Given the description of an element on the screen output the (x, y) to click on. 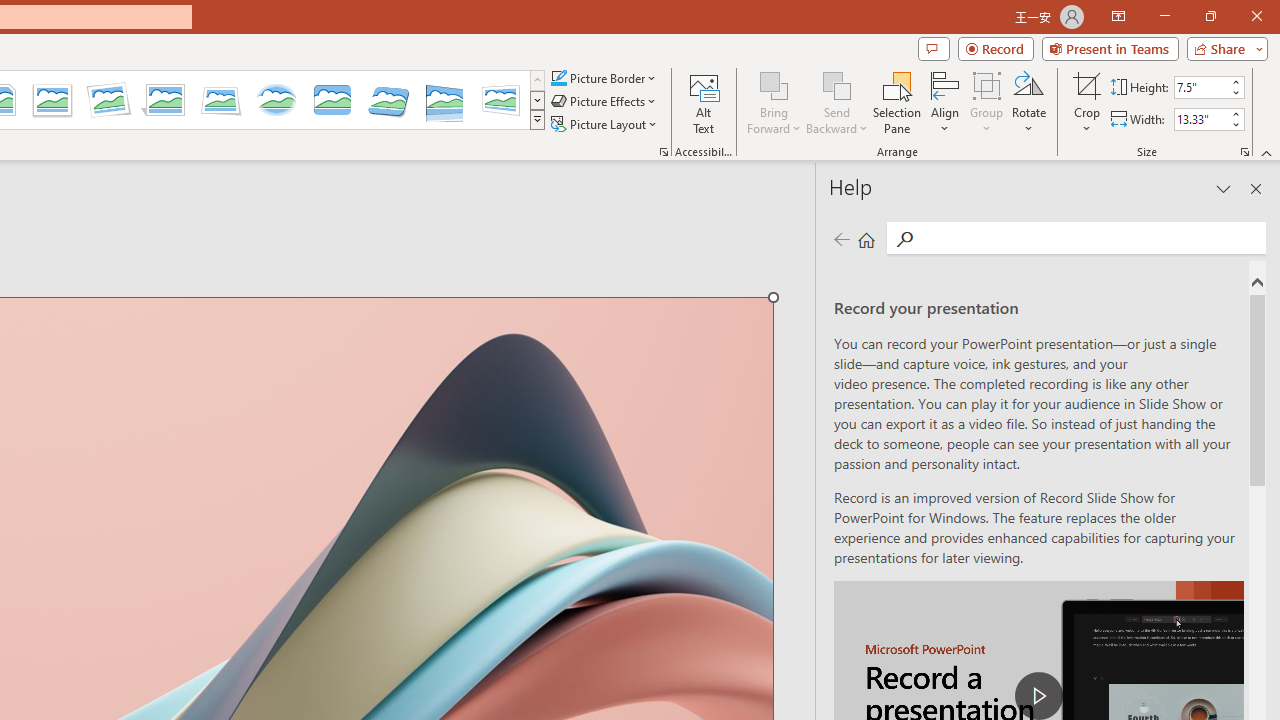
Row up (537, 79)
Ribbon Display Options (1118, 16)
Group (987, 102)
Shape Height (1201, 87)
Reflected Perspective Right (445, 100)
Previous page (841, 238)
Perspective Shadow, White (164, 100)
Picture... (663, 151)
Record (995, 48)
Bring Forward (773, 102)
Send Backward (836, 102)
Collapse the Ribbon (1267, 152)
Rotate (1028, 102)
Share (1223, 48)
